Given the description of an element on the screen output the (x, y) to click on. 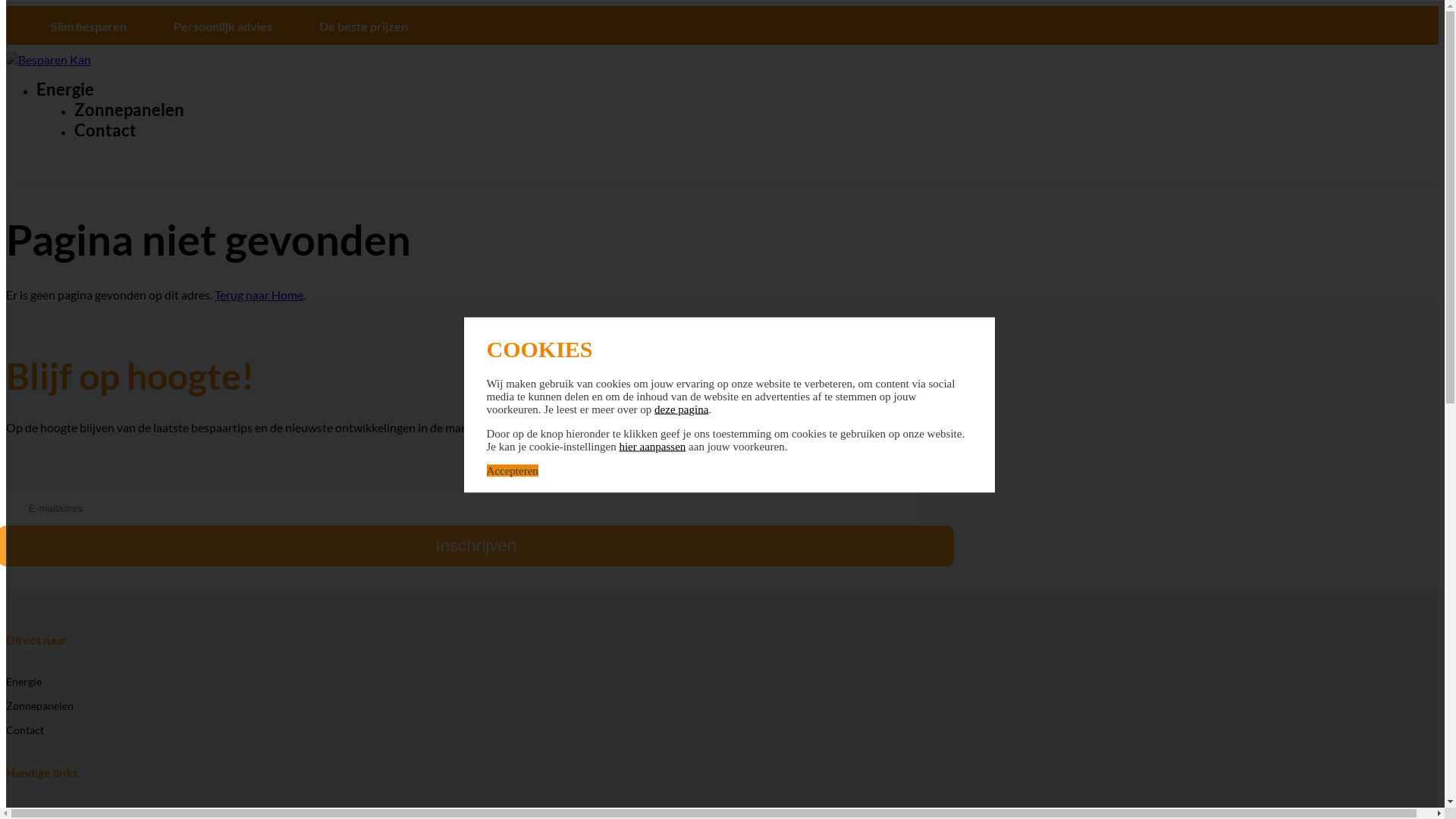
hier aanpassen Element type: text (651, 445)
deze pagina Element type: text (681, 408)
Contact Element type: text (24, 729)
Zonnepanelen Element type: text (129, 109)
Energie Element type: text (23, 680)
Terug naar Home Element type: text (258, 294)
Accepteren Element type: text (512, 470)
Contact Element type: text (105, 129)
Zonnepanelen Element type: text (39, 705)
Energie Element type: text (65, 88)
